Given the description of an element on the screen output the (x, y) to click on. 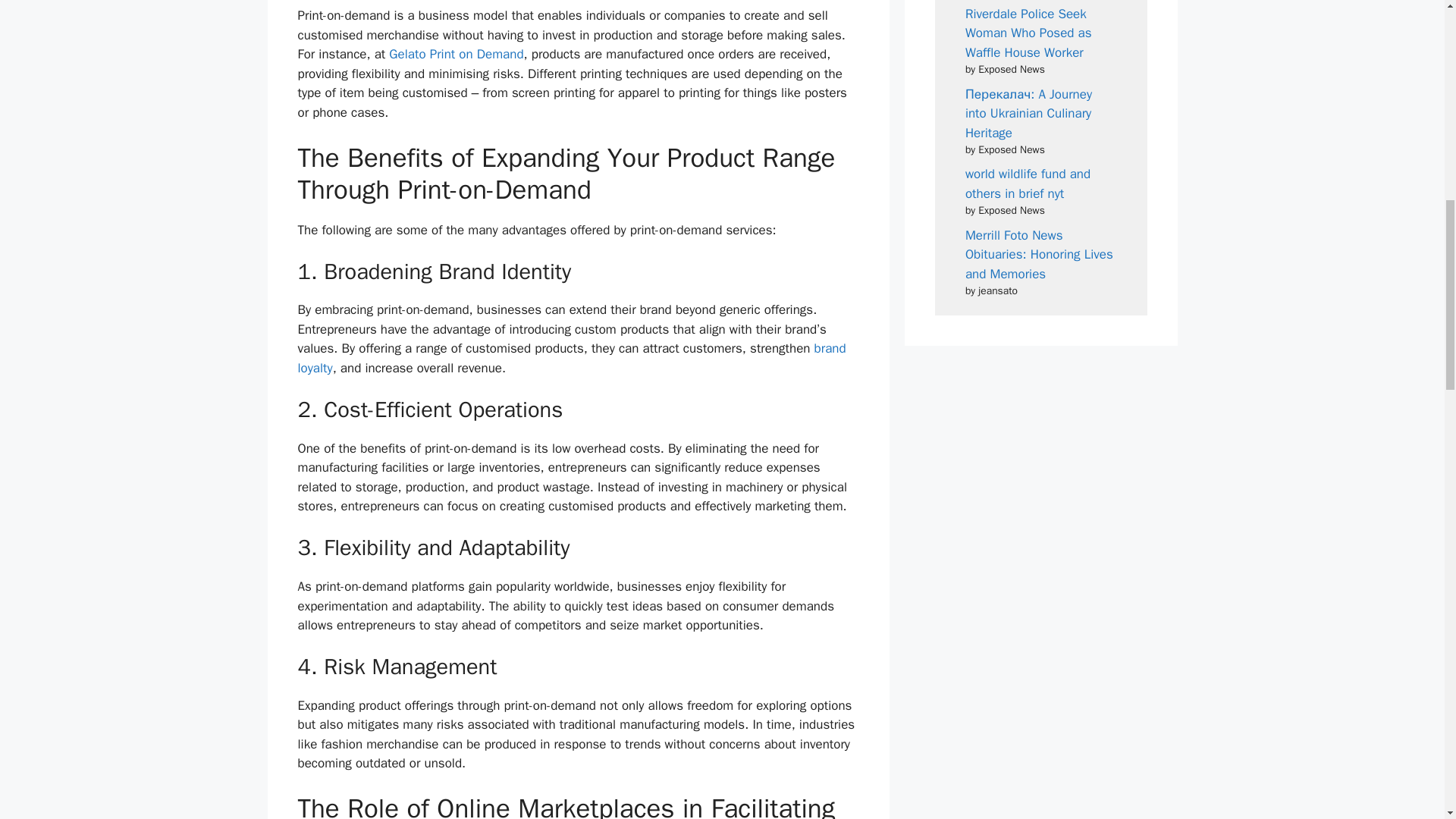
Scroll back to top (1406, 720)
brand loyalty (571, 357)
Gelato Print on Demand (455, 53)
